Given the description of an element on the screen output the (x, y) to click on. 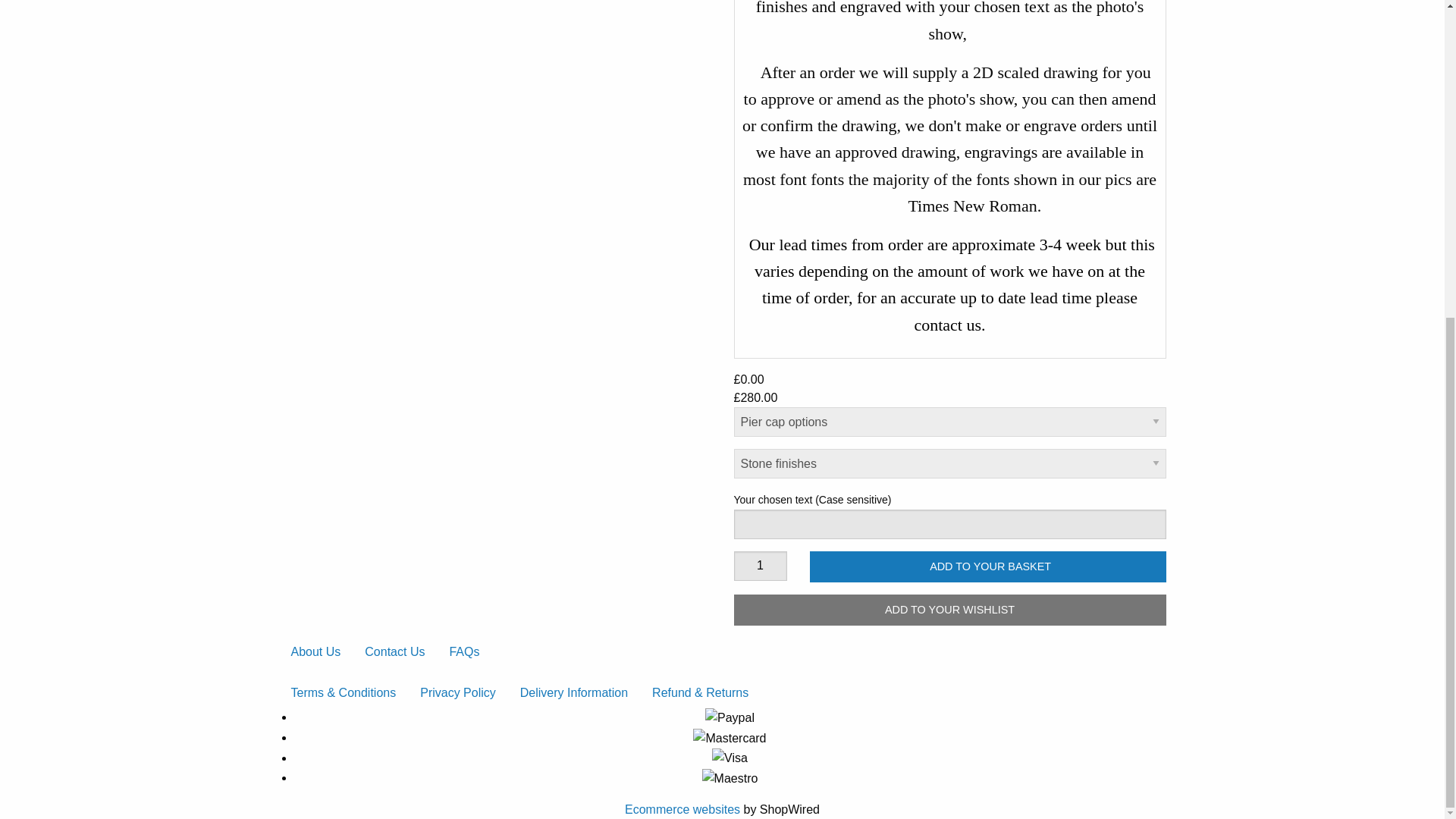
About Us (316, 652)
  ADD TO YOUR BASKET (987, 566)
ADD TO YOUR WISHLIST (949, 609)
Contact Us (394, 652)
1 (760, 565)
FAQs (464, 652)
